Given the description of an element on the screen output the (x, y) to click on. 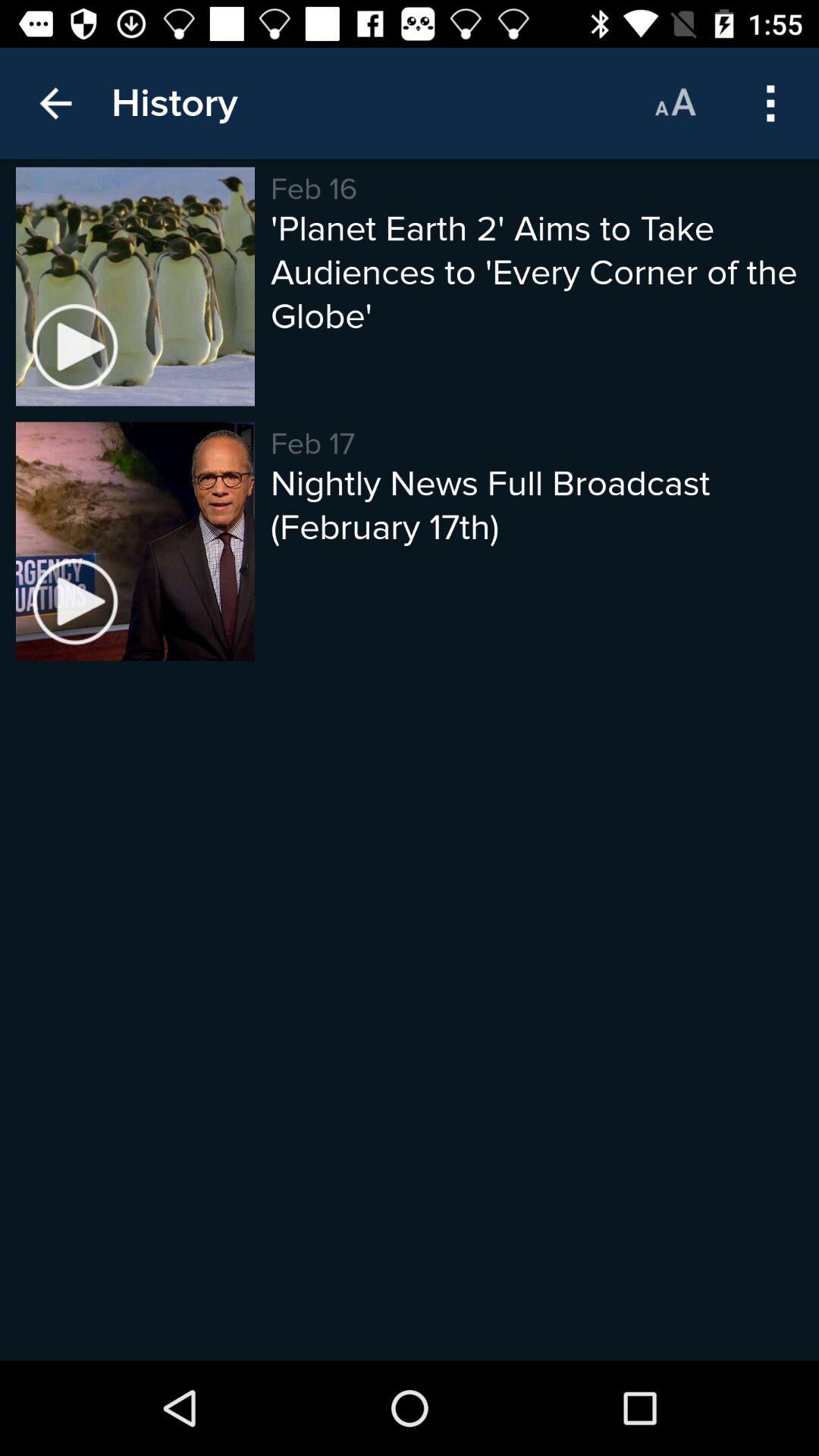
press icon to the left of the history (55, 103)
